Given the description of an element on the screen output the (x, y) to click on. 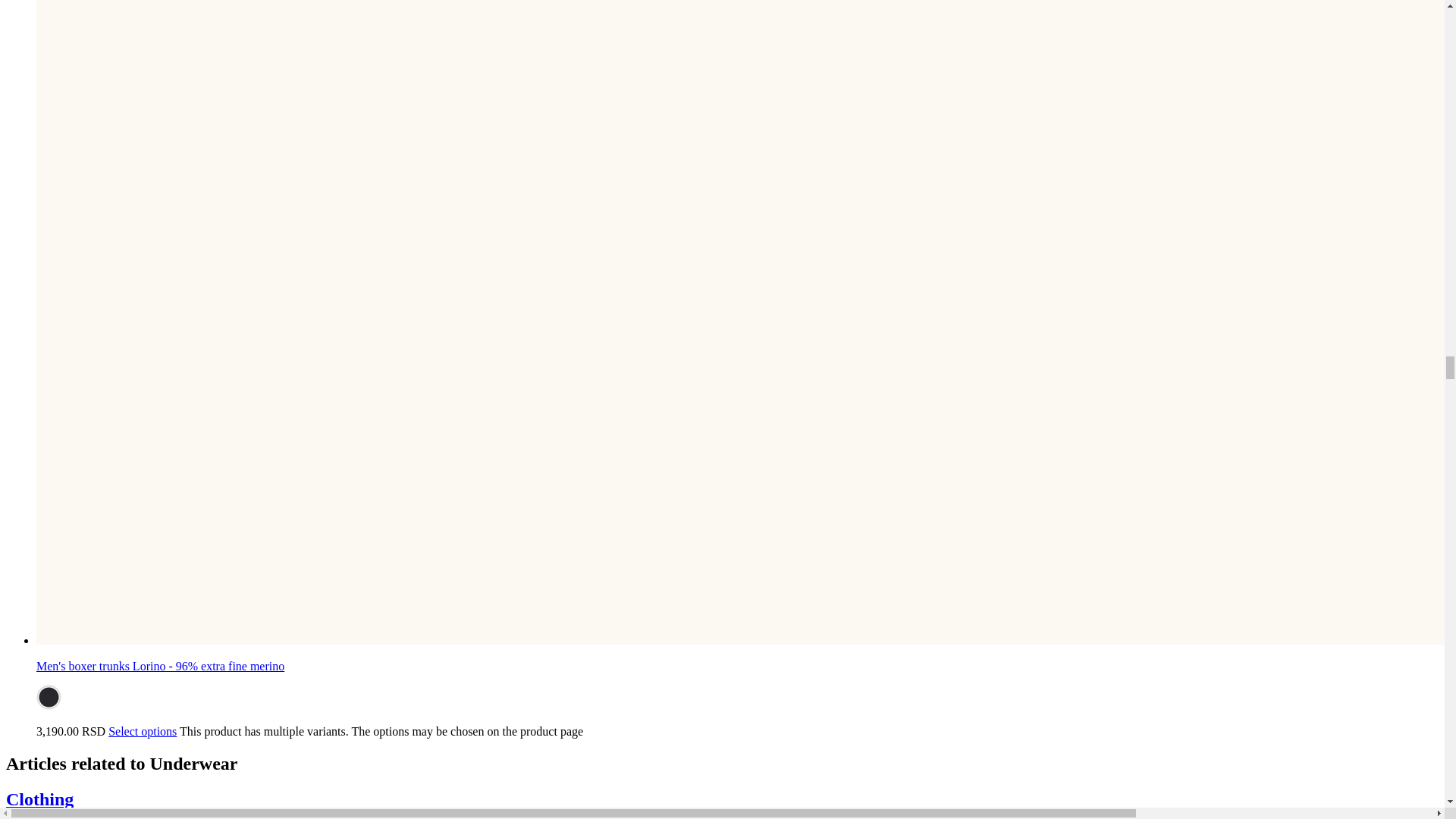
black (48, 697)
